Given the description of an element on the screen output the (x, y) to click on. 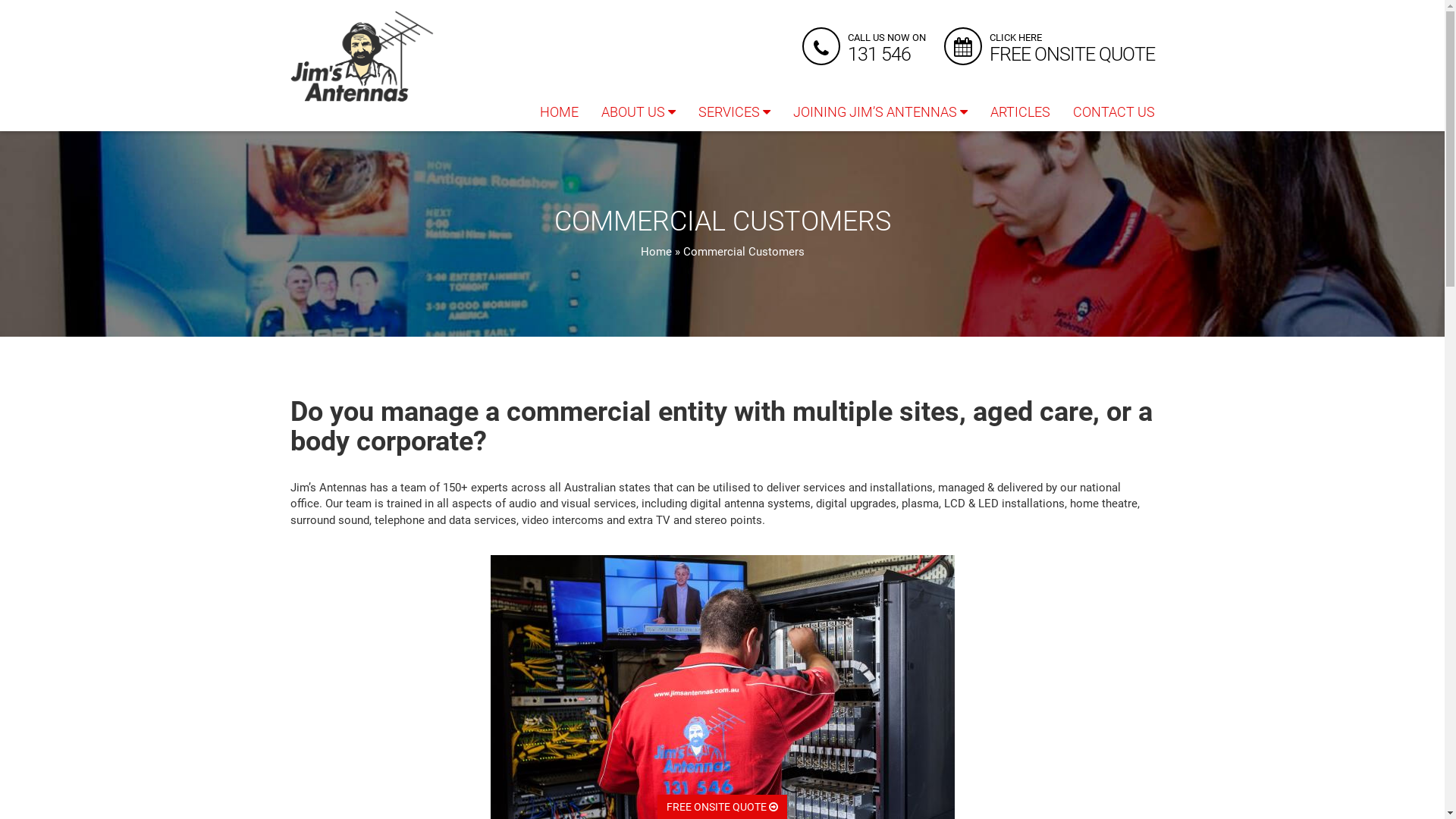
ABOUT US Element type: text (638, 112)
jims-antennas-logo Element type: hover (361, 56)
HOME Element type: text (558, 112)
Home Element type: text (655, 251)
ARTICLES Element type: text (1019, 112)
SERVICES Element type: text (734, 112)
CONTACT US Element type: text (1113, 112)
